Given the description of an element on the screen output the (x, y) to click on. 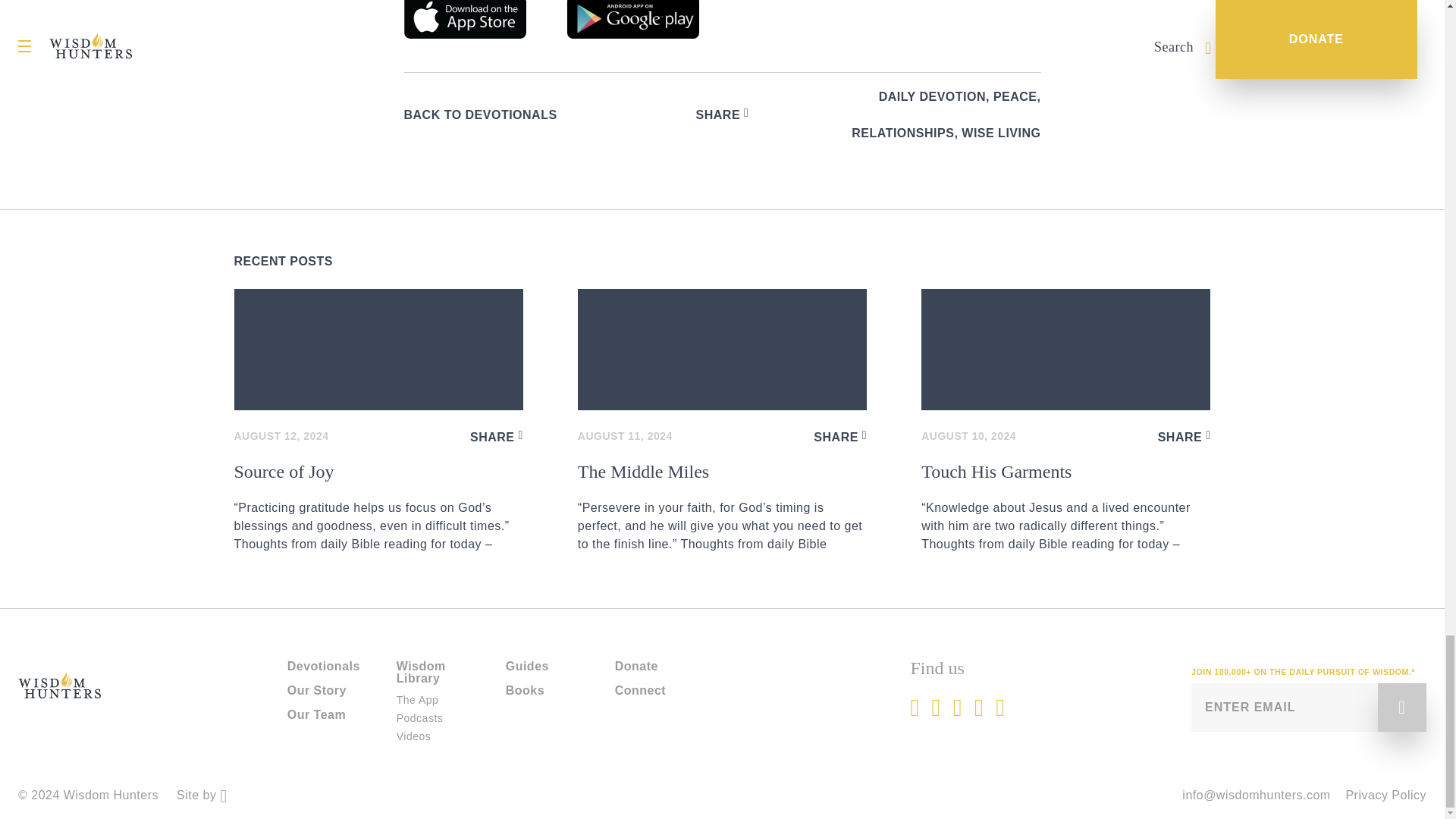
Send (1401, 707)
Permalink to: The Middle Miles (722, 349)
Permalink to: Source of Joy (377, 507)
Permalink to: Touch His Garments (1065, 507)
Permalink to: Source of Joy (377, 349)
Permalink to: The Middle Miles (722, 507)
DAILY DEVOTION (932, 96)
SHARE (722, 115)
BACK TO DEVOTIONALS (479, 115)
PEACE (1014, 96)
